Given the description of an element on the screen output the (x, y) to click on. 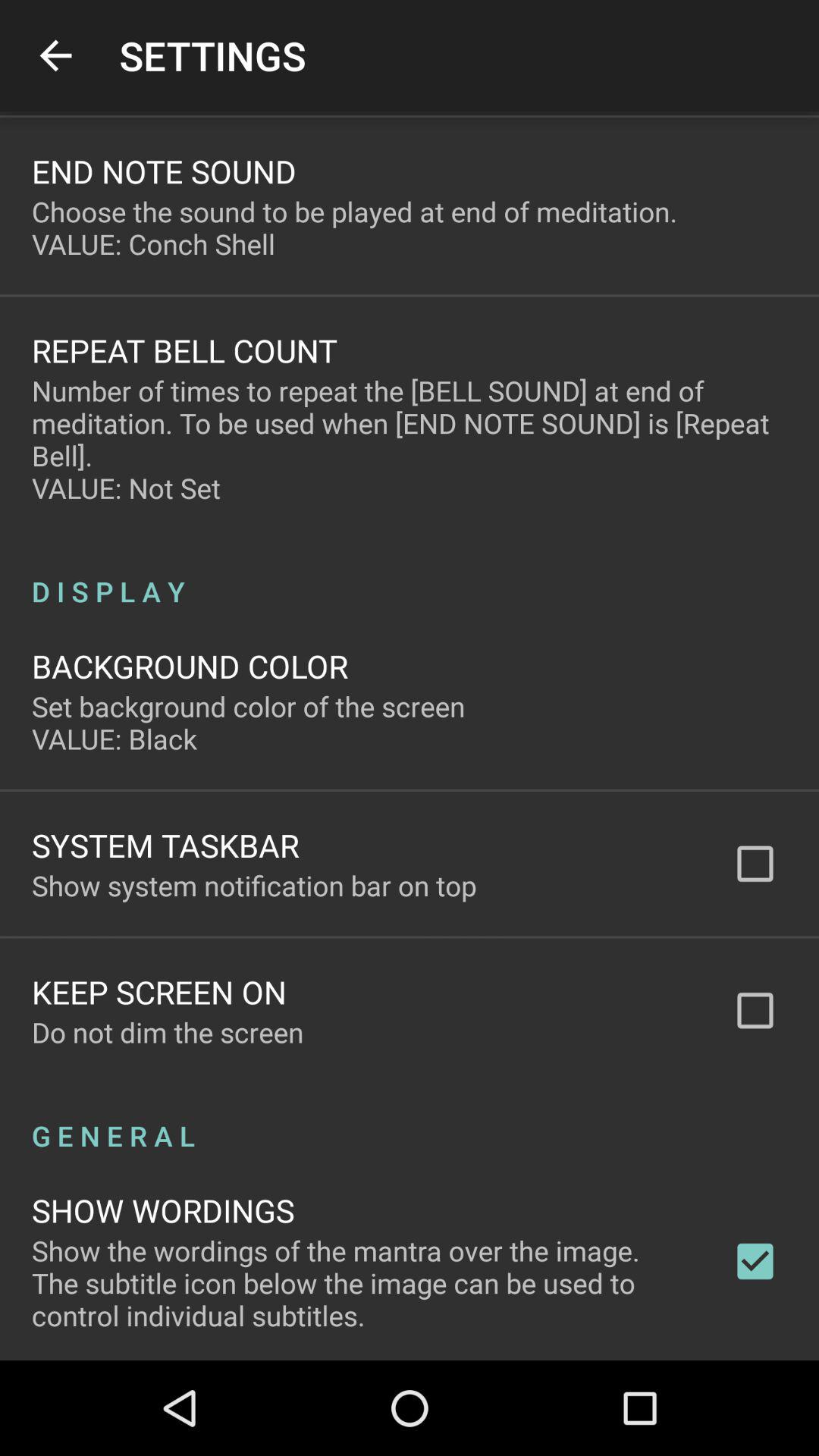
turn off the icon below do not dim icon (409, 1119)
